Given the description of an element on the screen output the (x, y) to click on. 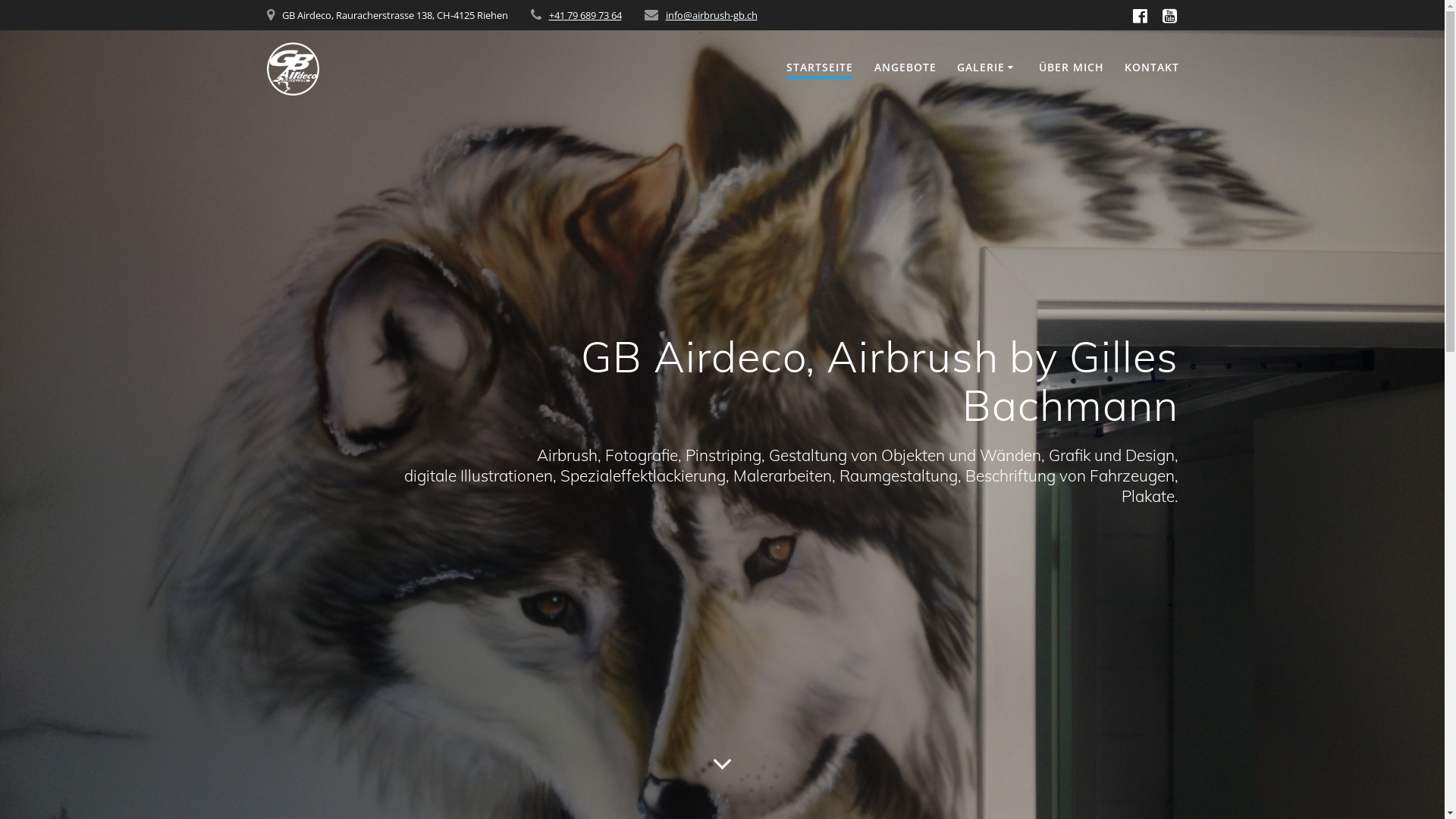
ANGEBOTE Element type: text (905, 67)
KONTAKT Element type: text (1151, 67)
info@airbrush-gb.ch Element type: text (711, 14)
STARTSEITE Element type: text (819, 68)
+41 79 689 73 64 Element type: text (585, 14)
GALERIE Element type: text (987, 67)
Skip to content Element type: text (0, 0)
